Given the description of an element on the screen output the (x, y) to click on. 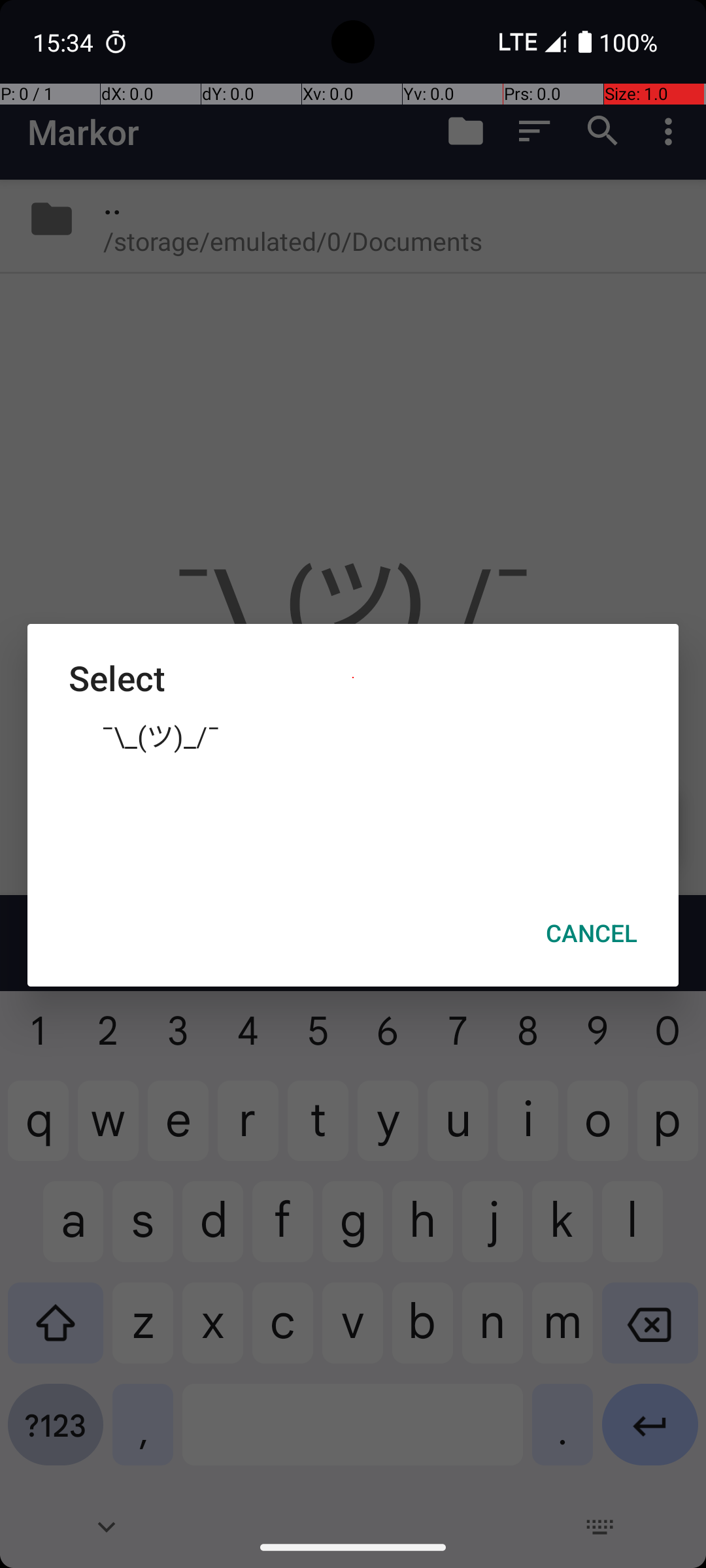
Select Element type: android.widget.TextView (352, 677)
     ¯\_(ツ)_/¯      Element type: android.widget.TextView (352, 734)
